Given the description of an element on the screen output the (x, y) to click on. 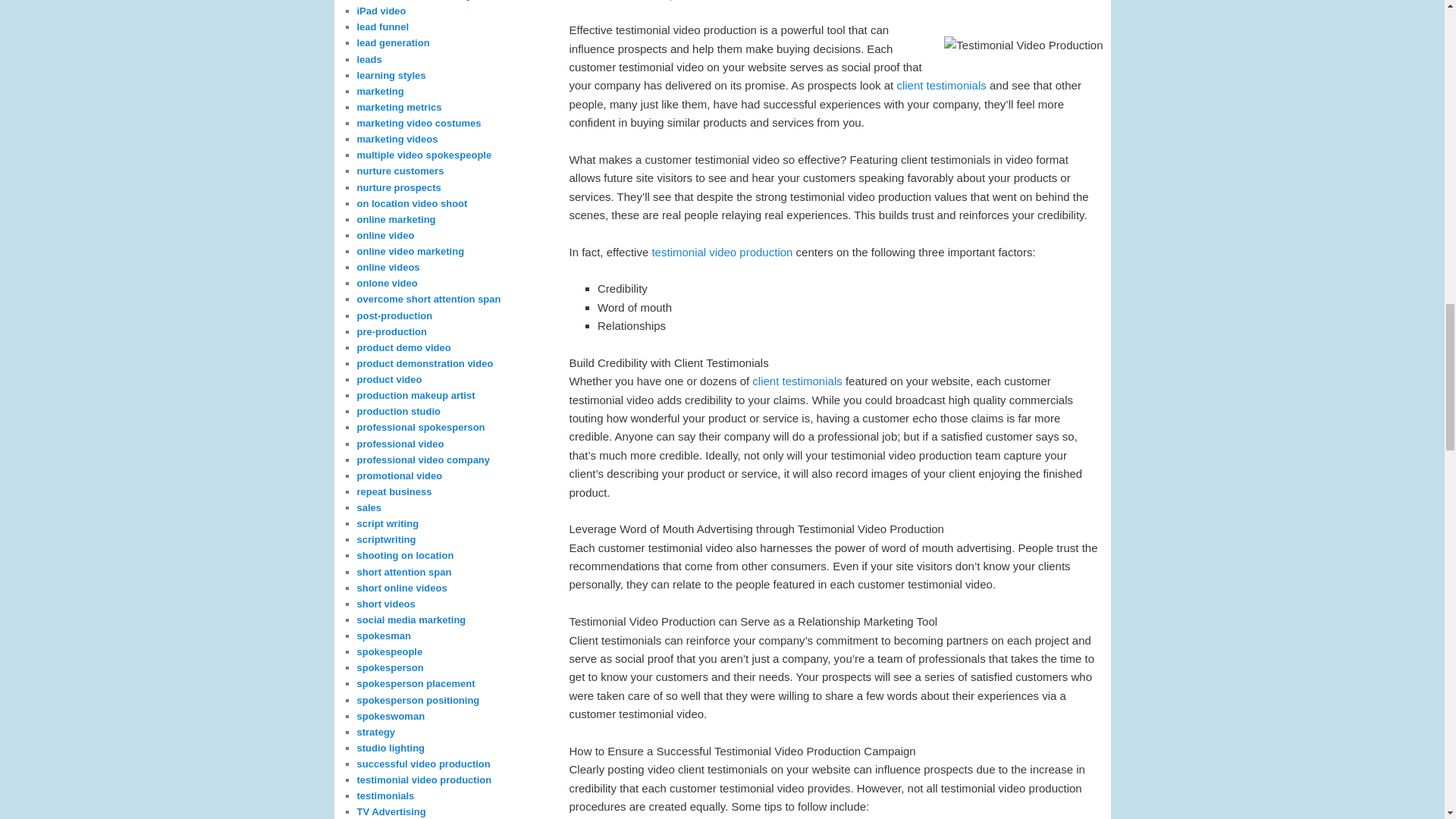
4:40 pm (653, 0)
